Given the description of an element on the screen output the (x, y) to click on. 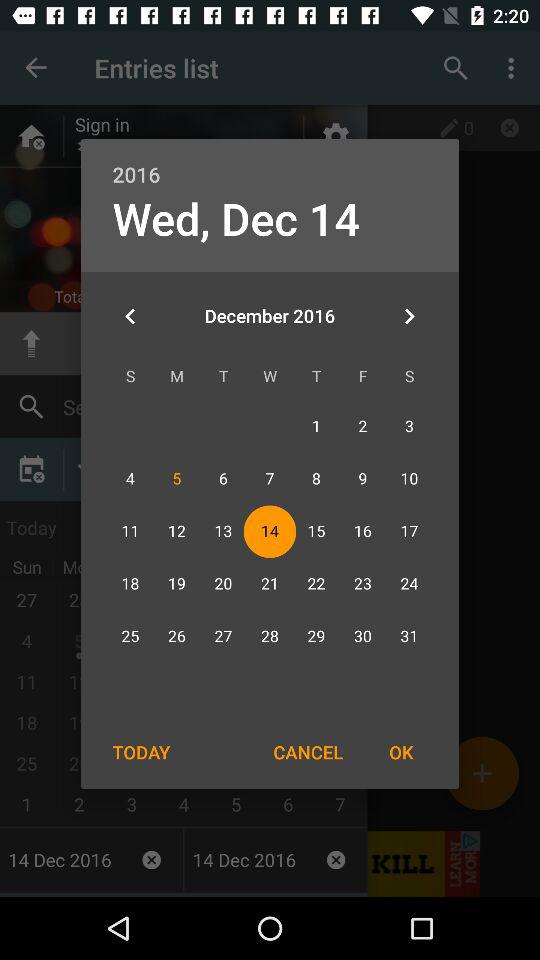
turn off the item at the top left corner (130, 316)
